Given the description of an element on the screen output the (x, y) to click on. 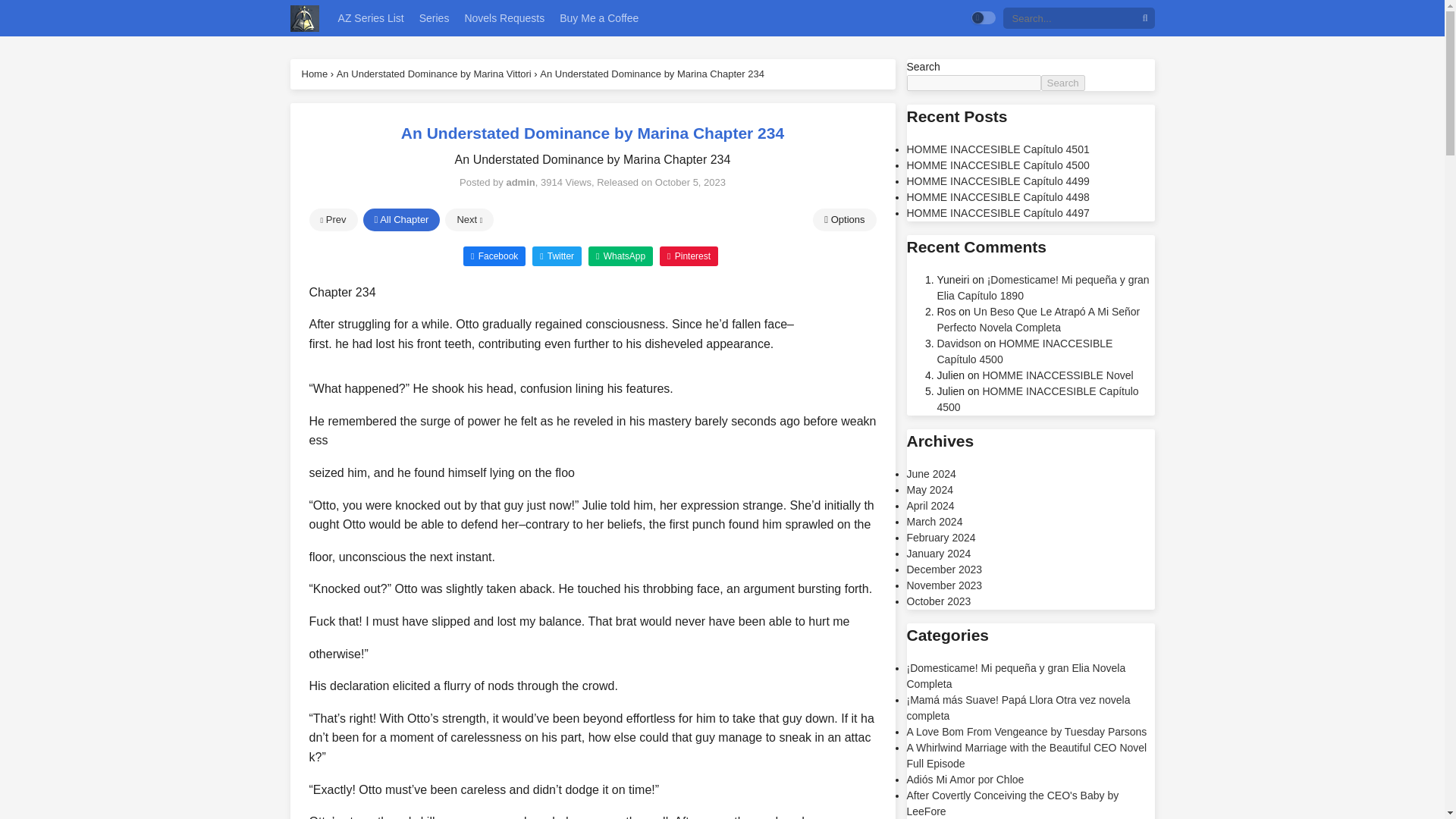
AZ Series List (370, 18)
Series (433, 18)
An Understated Dominance by Marina Vittori (433, 73)
WhatsApp (620, 255)
Novels Requests (504, 18)
Twitter (556, 255)
Facebook (494, 255)
Next (469, 219)
An Understated Dominance by Marina Chapter 234 (652, 73)
Buy Me a Coffee (599, 18)
Davidson (959, 343)
Search (1062, 82)
Home (315, 73)
All Chapter (400, 219)
